Given the description of an element on the screen output the (x, y) to click on. 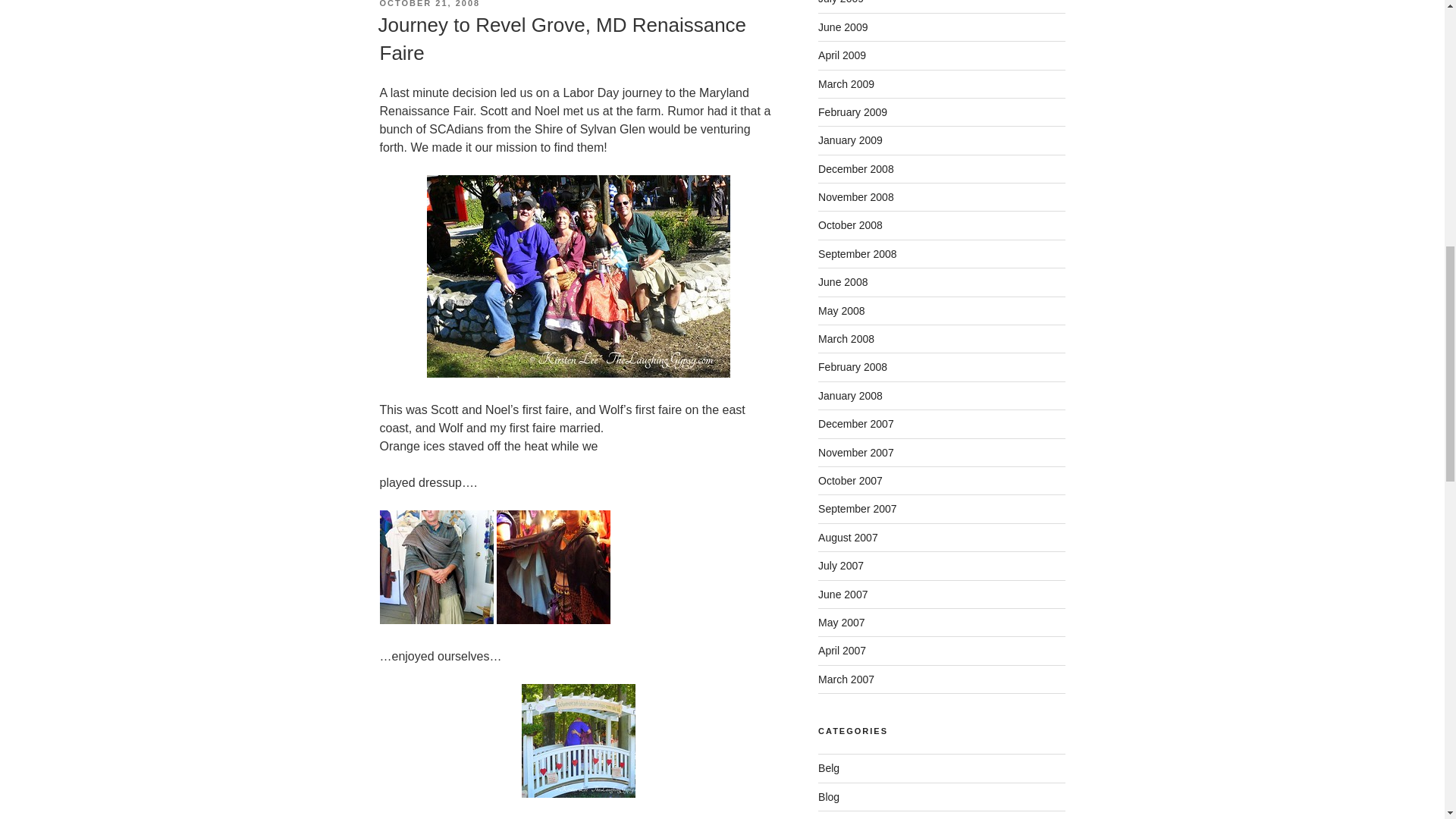
June 2008 (842, 282)
July 2009 (840, 2)
OCTOBER 21, 2008 (429, 3)
gypsy loves the kitty cloak (553, 567)
February 2009 (852, 111)
November 2008 (855, 196)
December 2008 (855, 168)
March 2009 (846, 82)
trying on a ruana (435, 567)
January 2009 (850, 140)
